Given the description of an element on the screen output the (x, y) to click on. 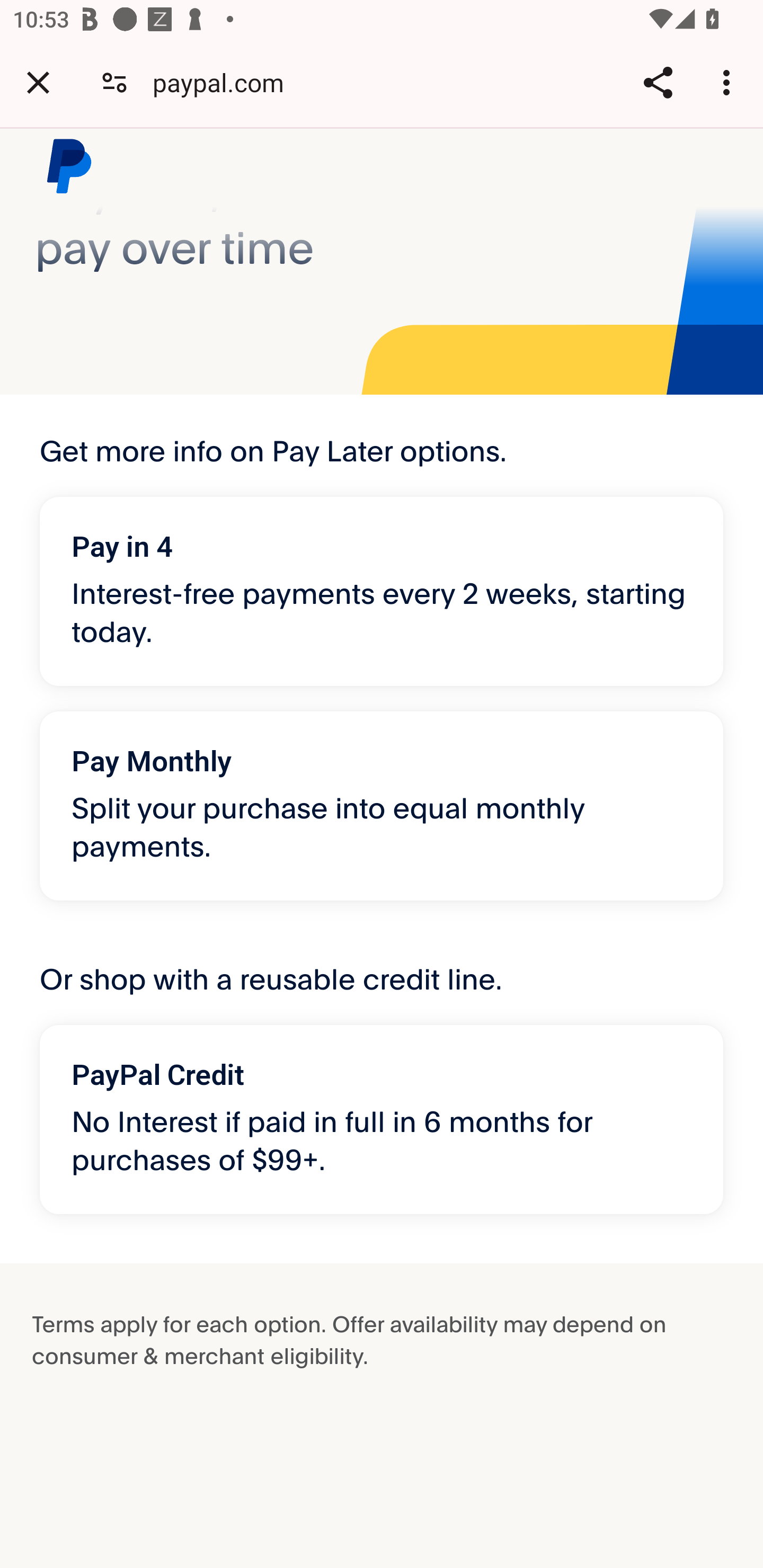
Close tab (38, 82)
Share (657, 82)
Customize and control Google Chrome (729, 82)
Connection is secure (114, 81)
paypal.com (224, 81)
